Given the description of an element on the screen output the (x, y) to click on. 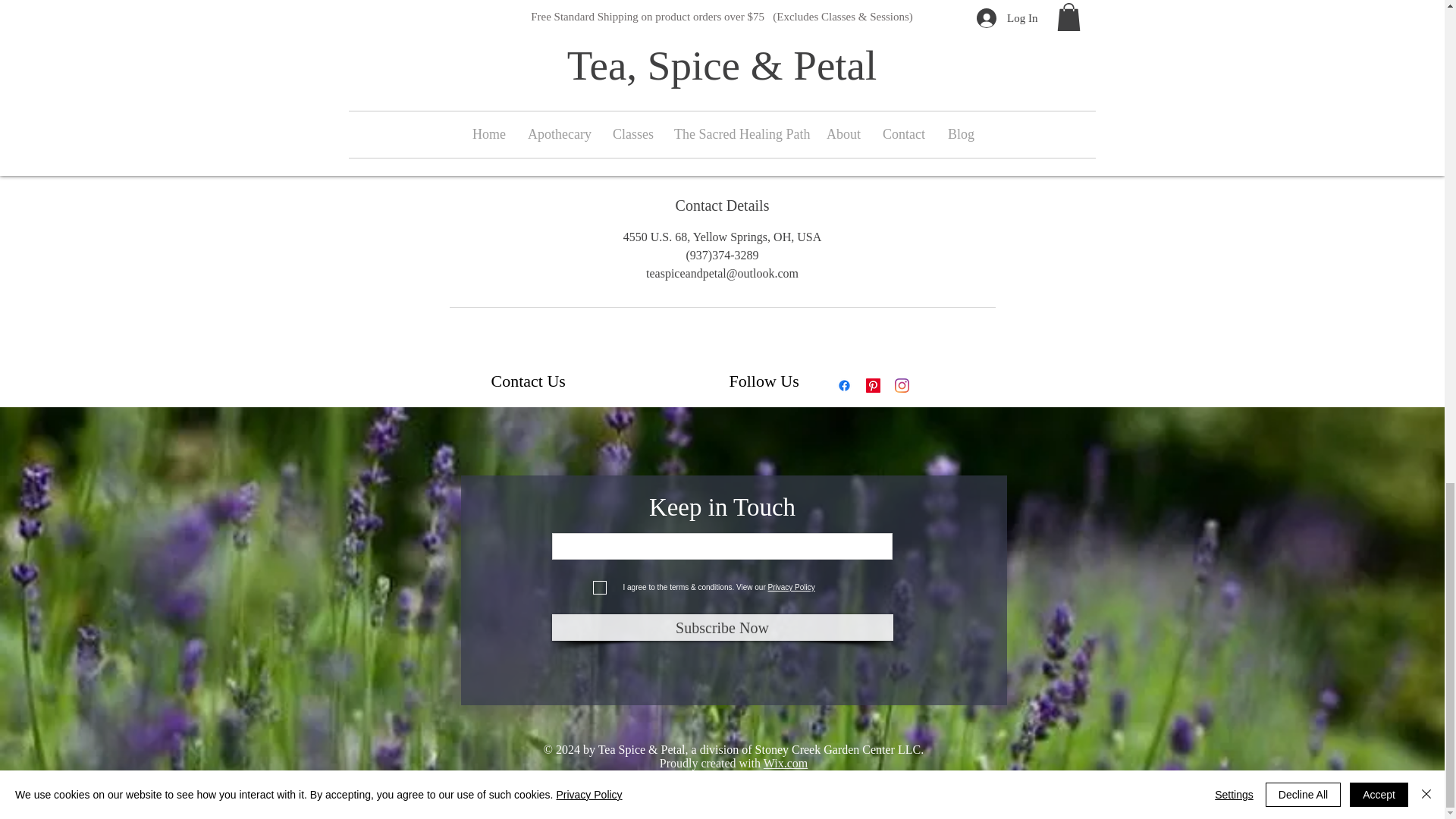
Contact Us (529, 380)
Privacy Policy (790, 587)
Subscribe Now (722, 627)
Wix.com (785, 762)
Book Now (721, 29)
